Given the description of an element on the screen output the (x, y) to click on. 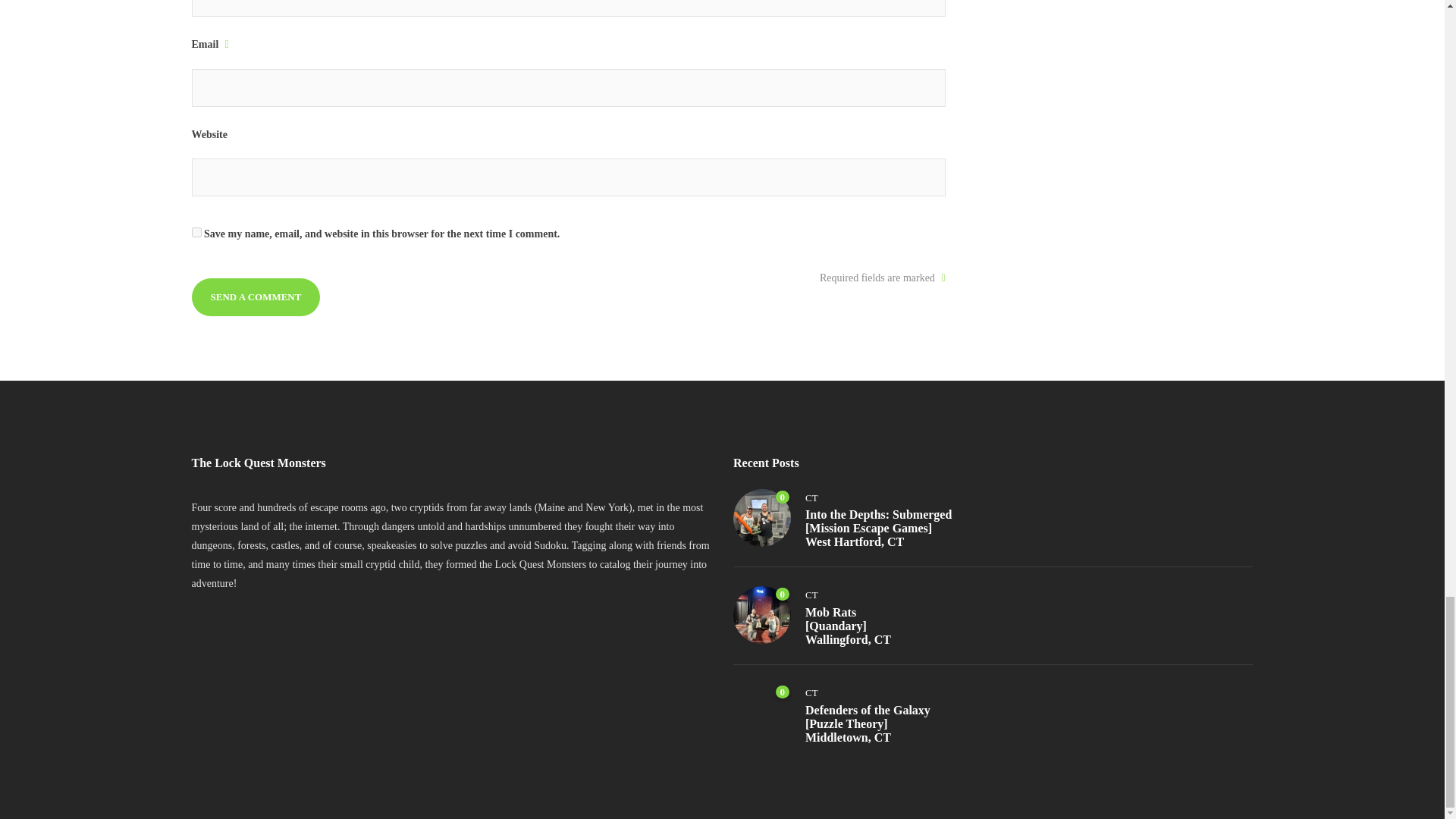
Send a comment (255, 297)
yes (195, 232)
Send a comment (255, 297)
